Given the description of an element on the screen output the (x, y) to click on. 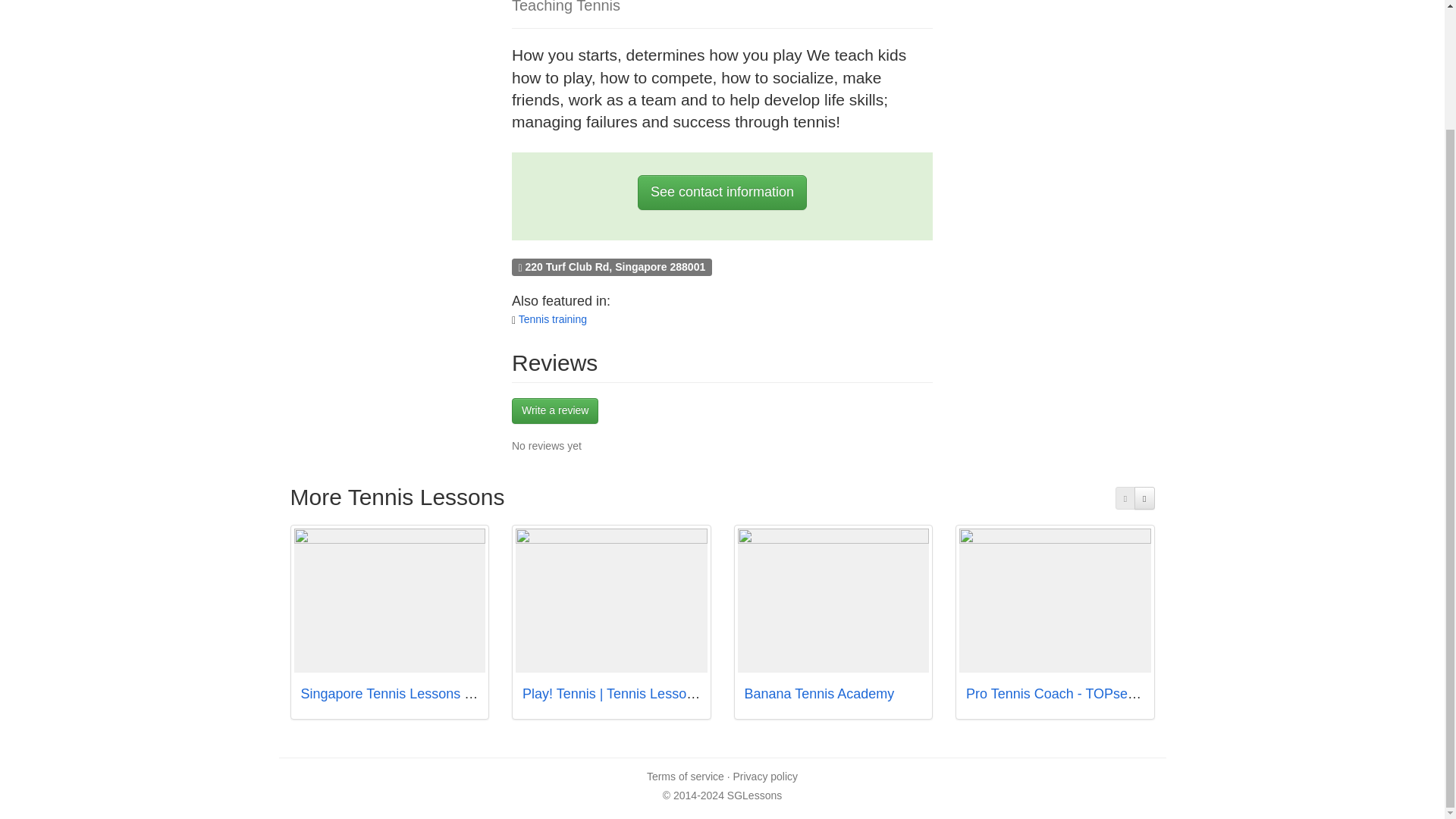
Tennis training (552, 318)
Terms of service (684, 776)
Privacy policy (764, 776)
Pro Tennis Coach - TOPserve (1056, 693)
Banana Tennis Academy (819, 693)
See contact information (721, 192)
Write a review (555, 411)
